Given the description of an element on the screen output the (x, y) to click on. 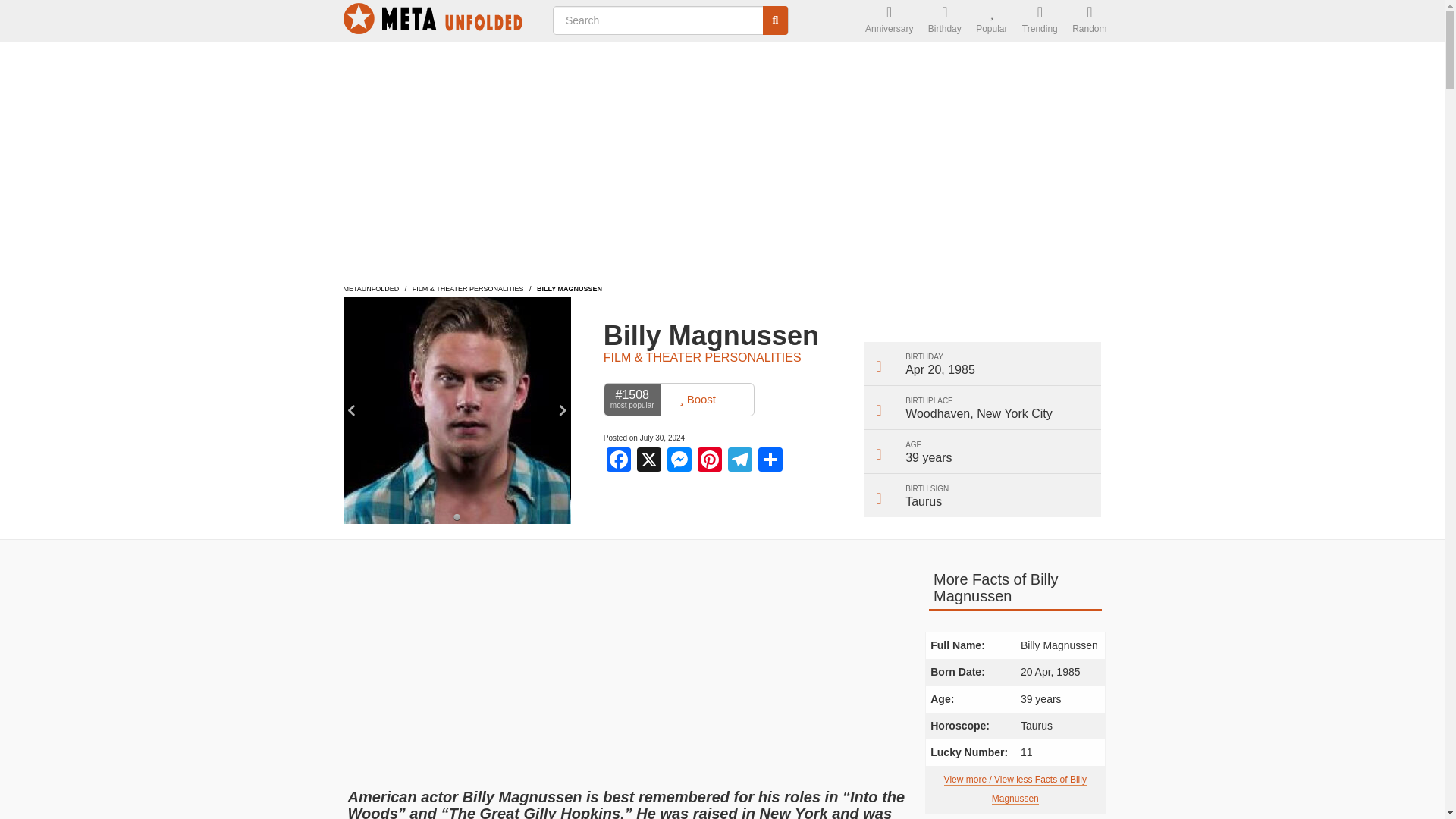
Trending (1040, 21)
X (648, 461)
Metaunfolded (370, 288)
Pinterest (709, 461)
Woodhaven (937, 413)
Advertisement (623, 663)
X (648, 461)
Anniversary (888, 21)
Facebook (618, 461)
Today Birthday (944, 21)
